Given the description of an element on the screen output the (x, y) to click on. 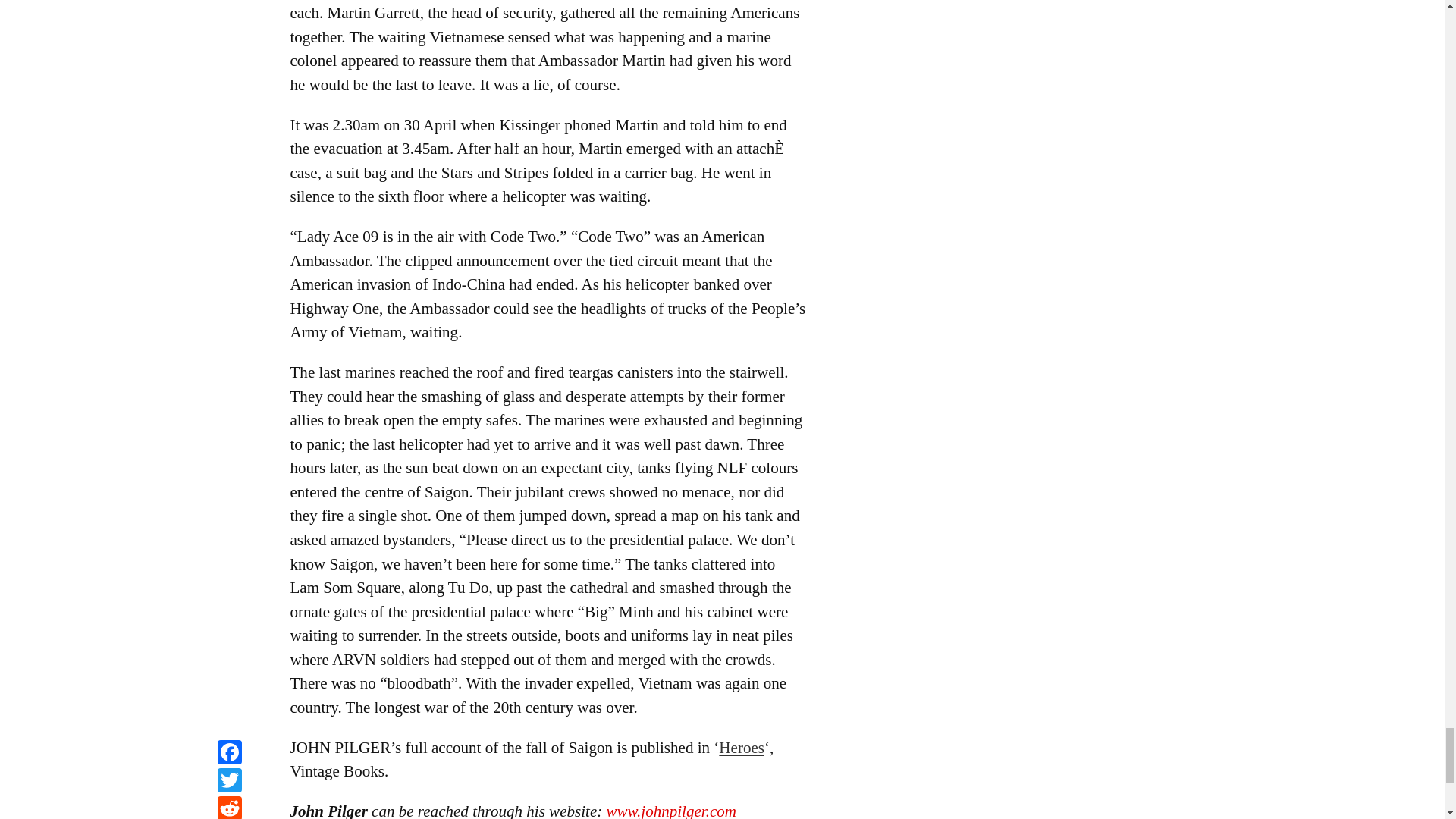
www.johnpilger.com (671, 810)
Heroes (741, 747)
